Given the description of an element on the screen output the (x, y) to click on. 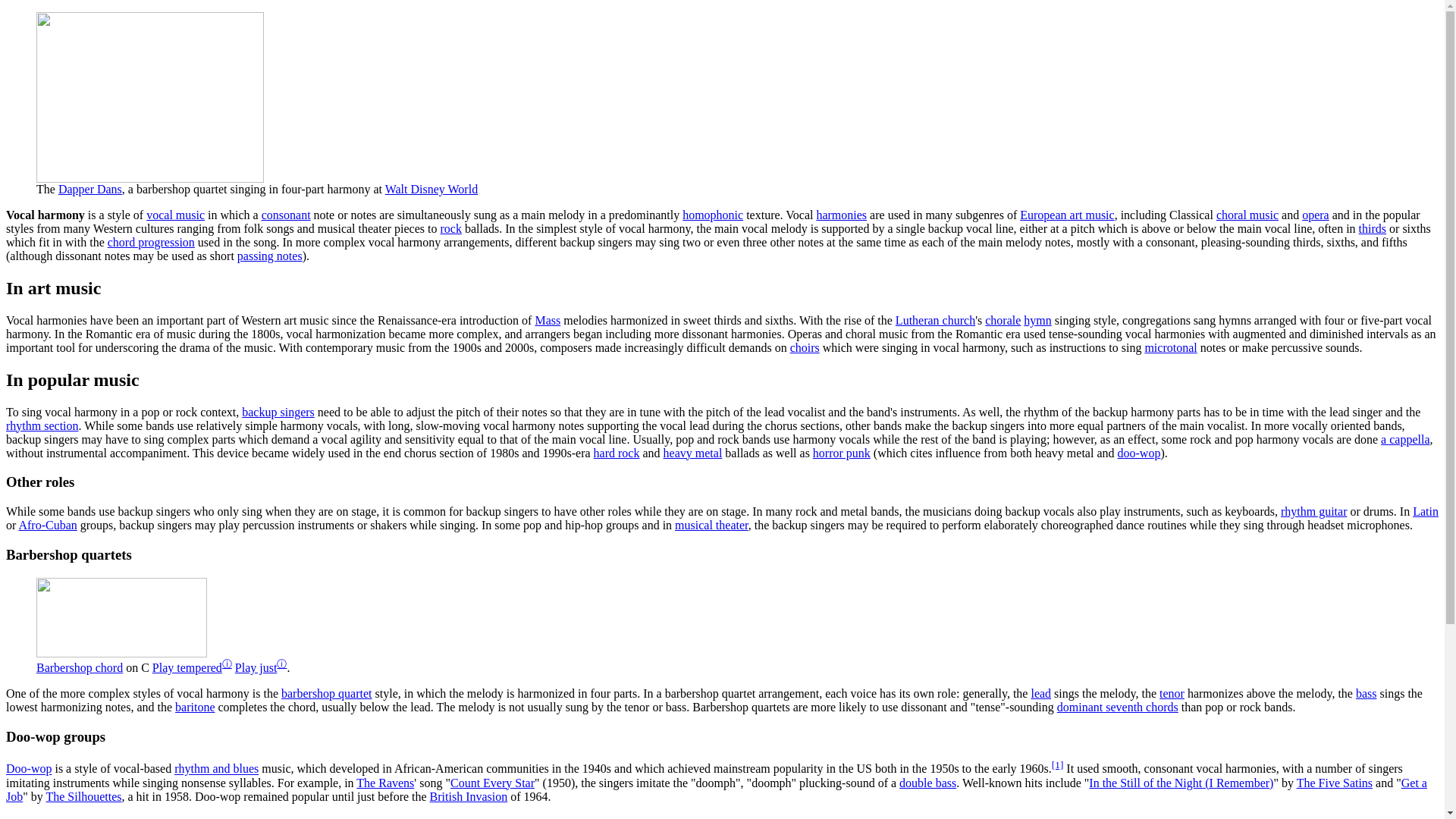
Walt Disney World Resort (431, 188)
Lutheran church (935, 319)
chorale (1002, 319)
Mass (547, 319)
Passing note (269, 255)
Dapper Dans (90, 188)
harmonies (840, 214)
Hymn (1037, 319)
Consonance and dissonance (286, 214)
thirds (1372, 228)
microtonal (1170, 347)
Afro-Cuban (47, 524)
musical theater (711, 524)
Chorale (1002, 319)
Major third (1372, 228)
